Given the description of an element on the screen output the (x, y) to click on. 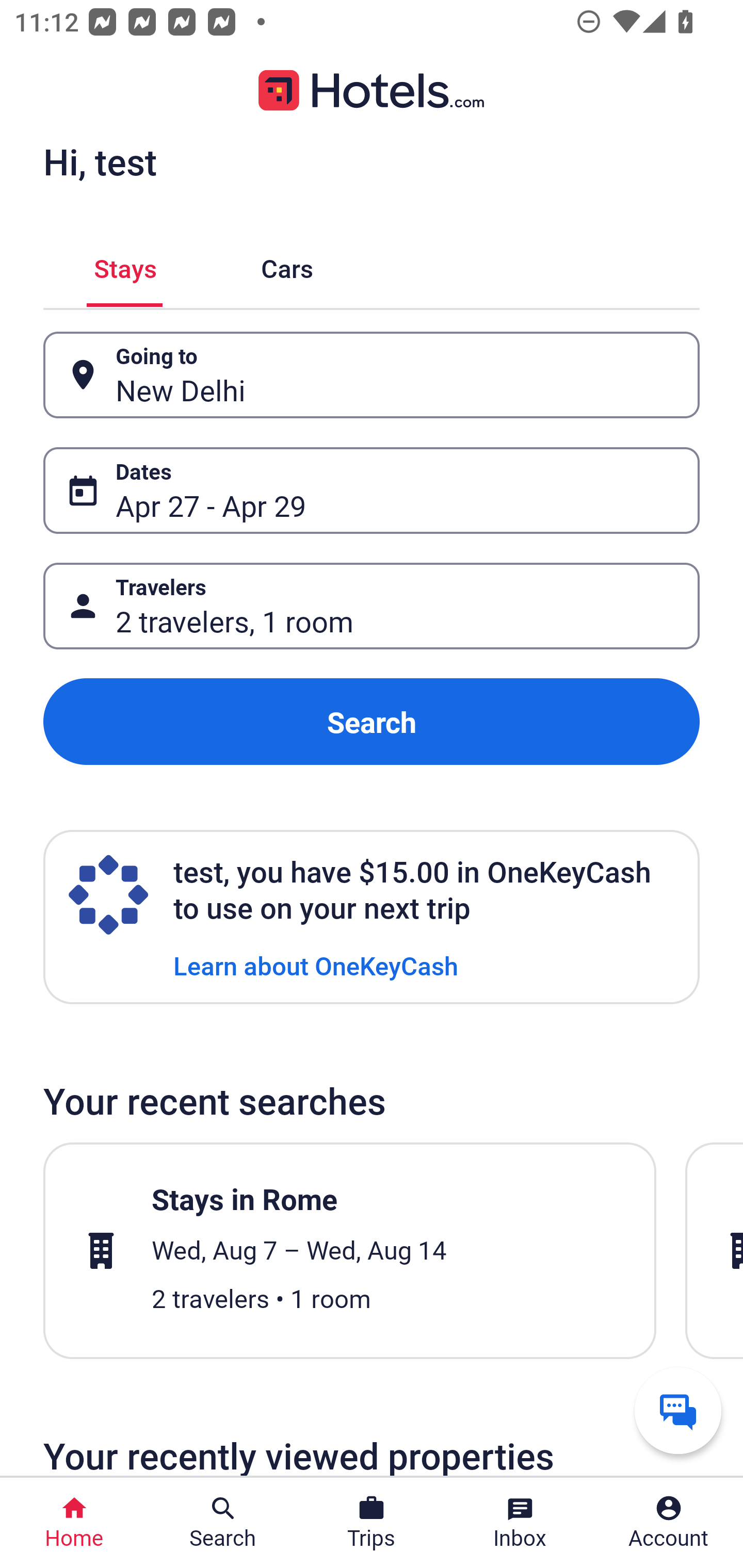
Hi, test (99, 161)
Cars (286, 265)
Going to Button New Delhi (371, 375)
Dates Button Apr 27 - Apr 29 (371, 489)
Travelers Button 2 travelers, 1 room (371, 605)
Search (371, 721)
Learn about OneKeyCash Learn about OneKeyCash Link (315, 964)
Get help from a virtual agent (677, 1410)
Search Search Button (222, 1522)
Trips Trips Button (371, 1522)
Inbox Inbox Button (519, 1522)
Account Profile. Button (668, 1522)
